Given the description of an element on the screen output the (x, y) to click on. 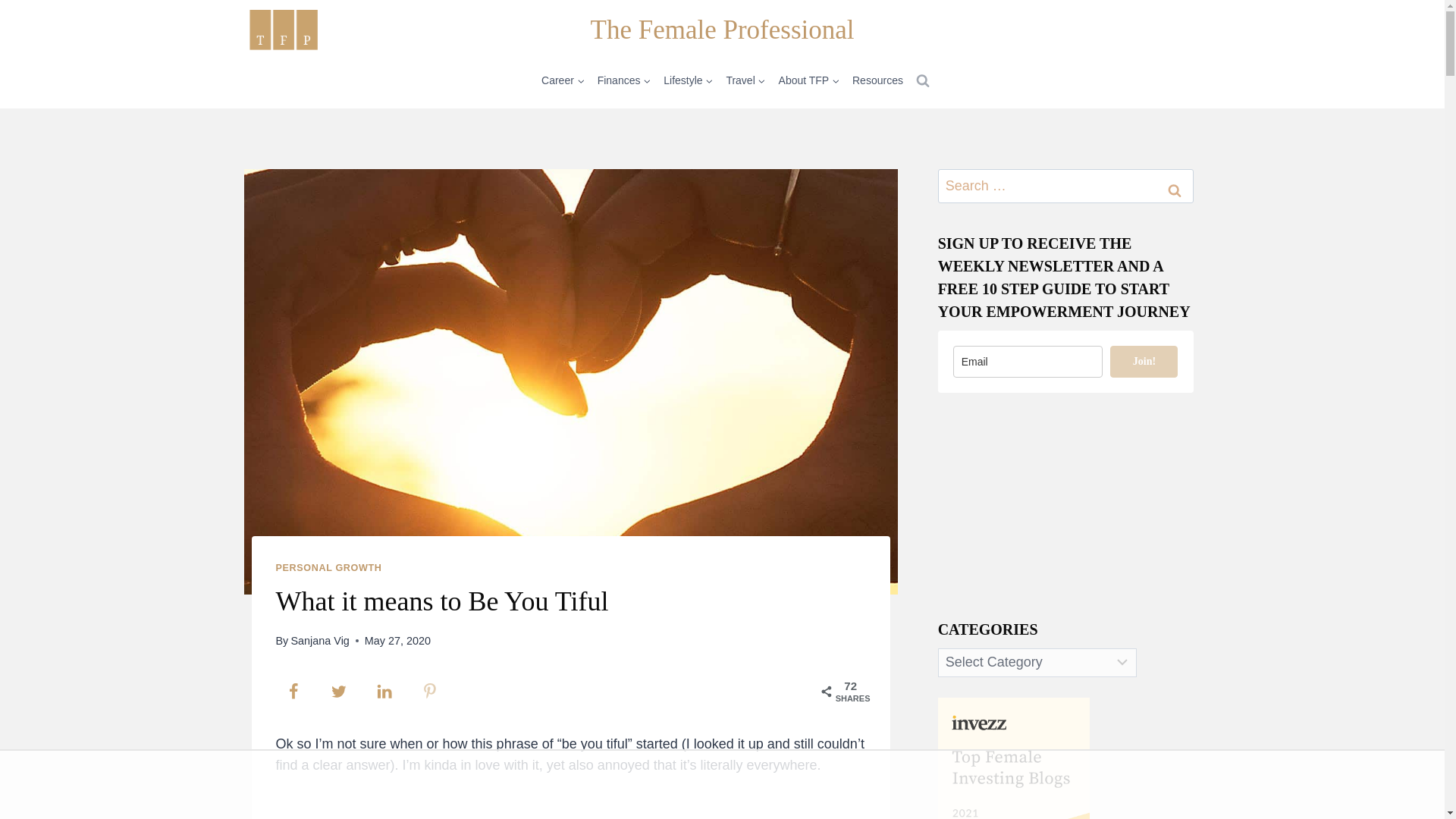
Lifestyle (688, 80)
The Female Professional (722, 30)
Resources (877, 80)
Search (1174, 189)
Share on Twitter (338, 691)
Finances (624, 80)
Travel (745, 80)
Search (1174, 189)
Career (563, 80)
